Given the description of an element on the screen output the (x, y) to click on. 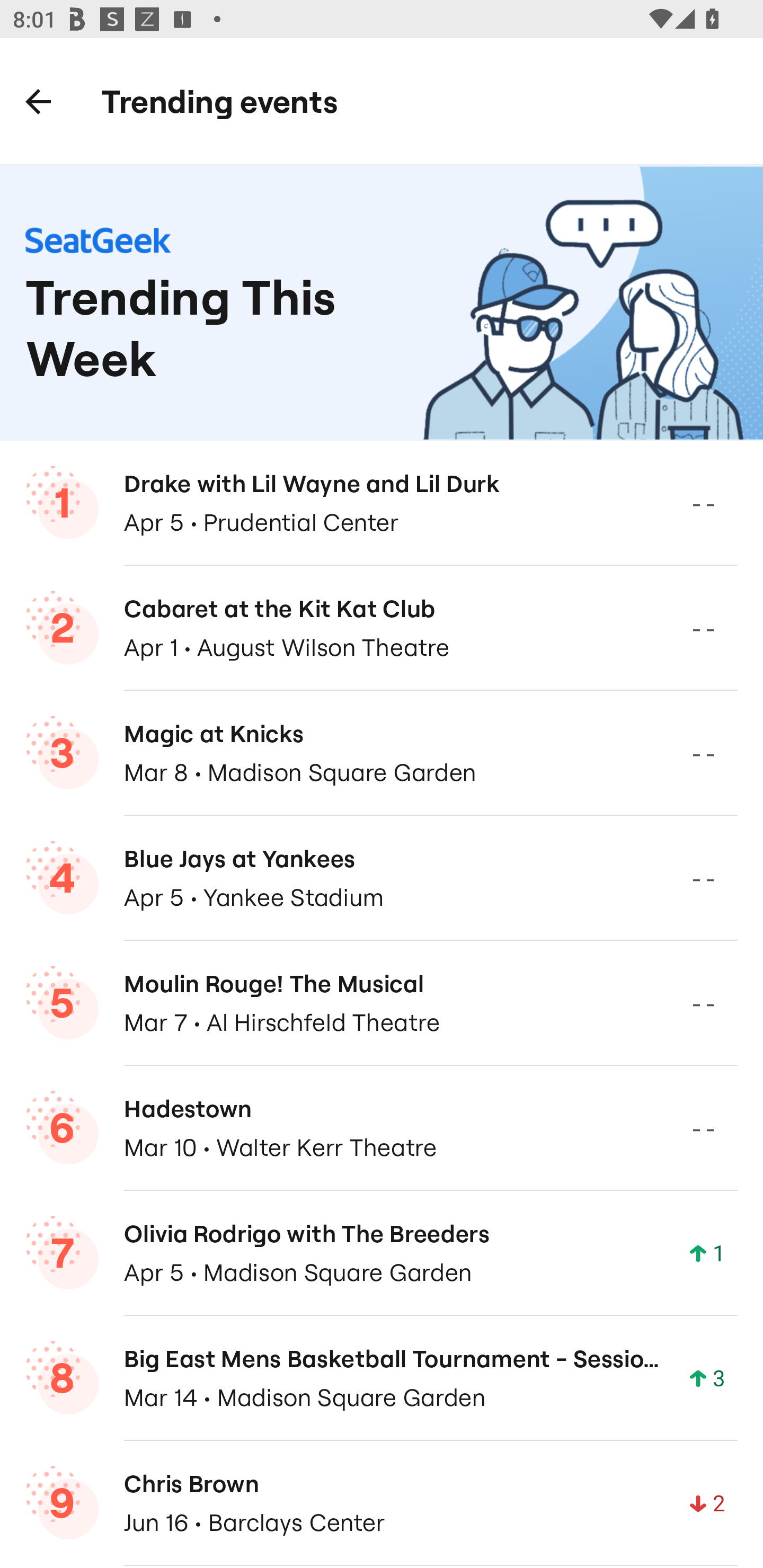
Back (38, 100)
